Given the description of an element on the screen output the (x, y) to click on. 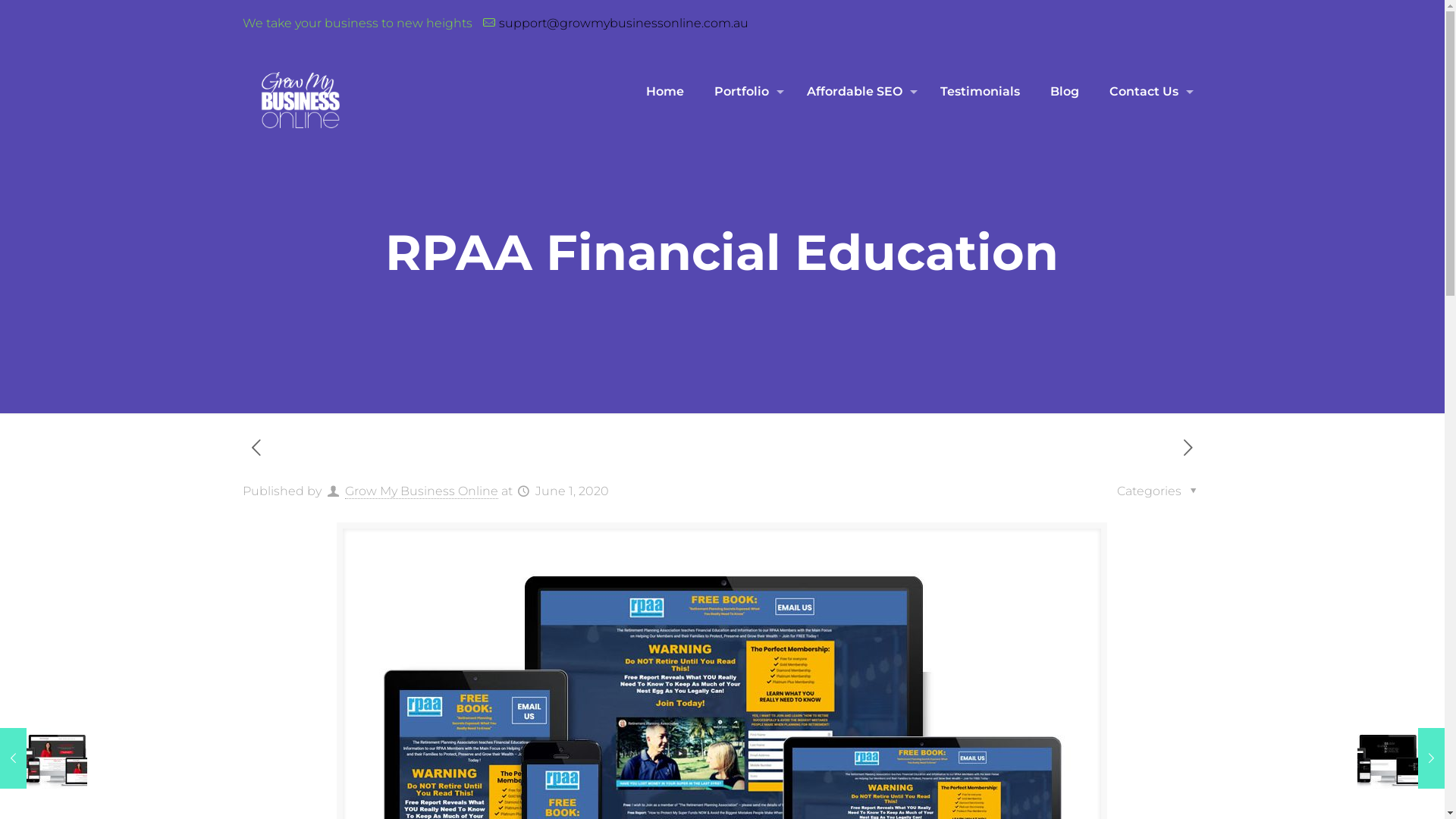
support@growmybusinessonline.com.au Element type: text (623, 22)
Grow My Business Online Element type: hover (299, 101)
Grow My Business Online Element type: text (421, 490)
Testimonials Element type: text (980, 91)
Contact Us Element type: text (1147, 91)
Blog Element type: text (1064, 91)
Affordable SEO Element type: text (858, 91)
Portfolio Element type: text (745, 91)
Home Element type: text (664, 91)
